Given the description of an element on the screen output the (x, y) to click on. 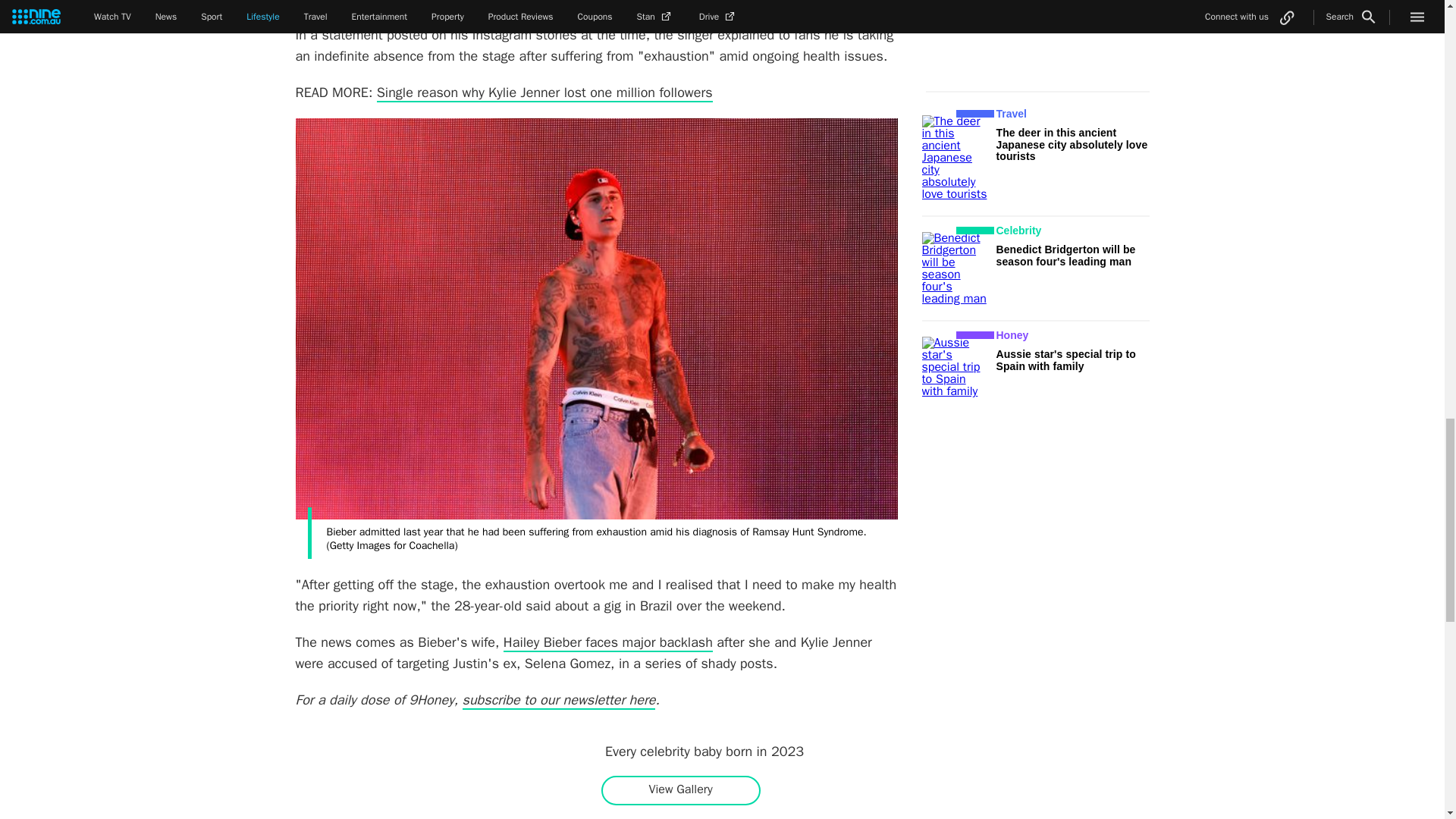
Single reason why Kylie Jenner lost one million followers (545, 93)
subscribe to our newsletter here (559, 700)
Hailey Bieber faces major backlash (608, 642)
Single reason why Kylie Jenner lost one million followers (545, 93)
Hailey Bieber faces major backlash (608, 642)
